Given the description of an element on the screen output the (x, y) to click on. 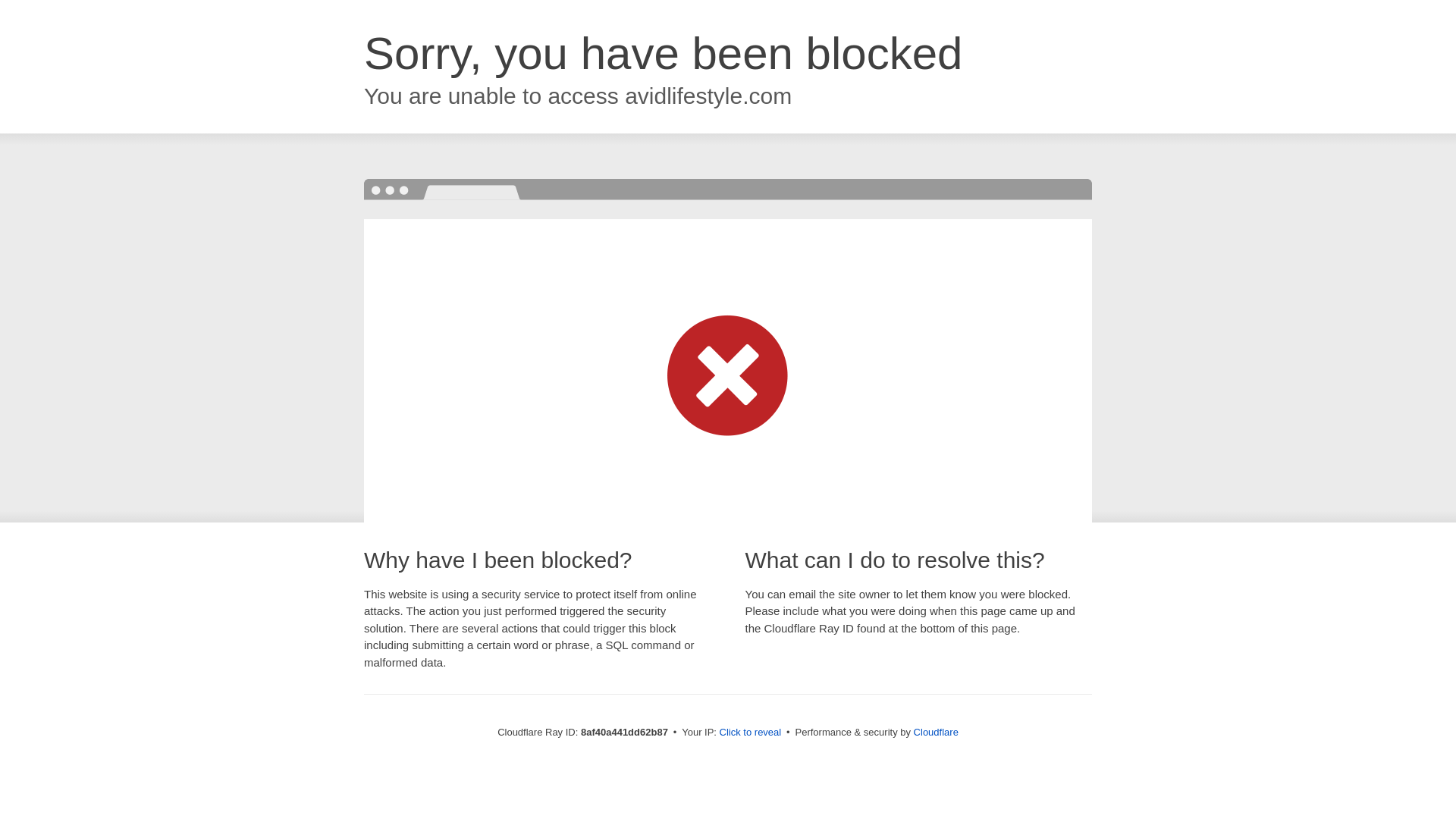
Cloudflare (936, 731)
Click to reveal (750, 732)
